Given the description of an element on the screen output the (x, y) to click on. 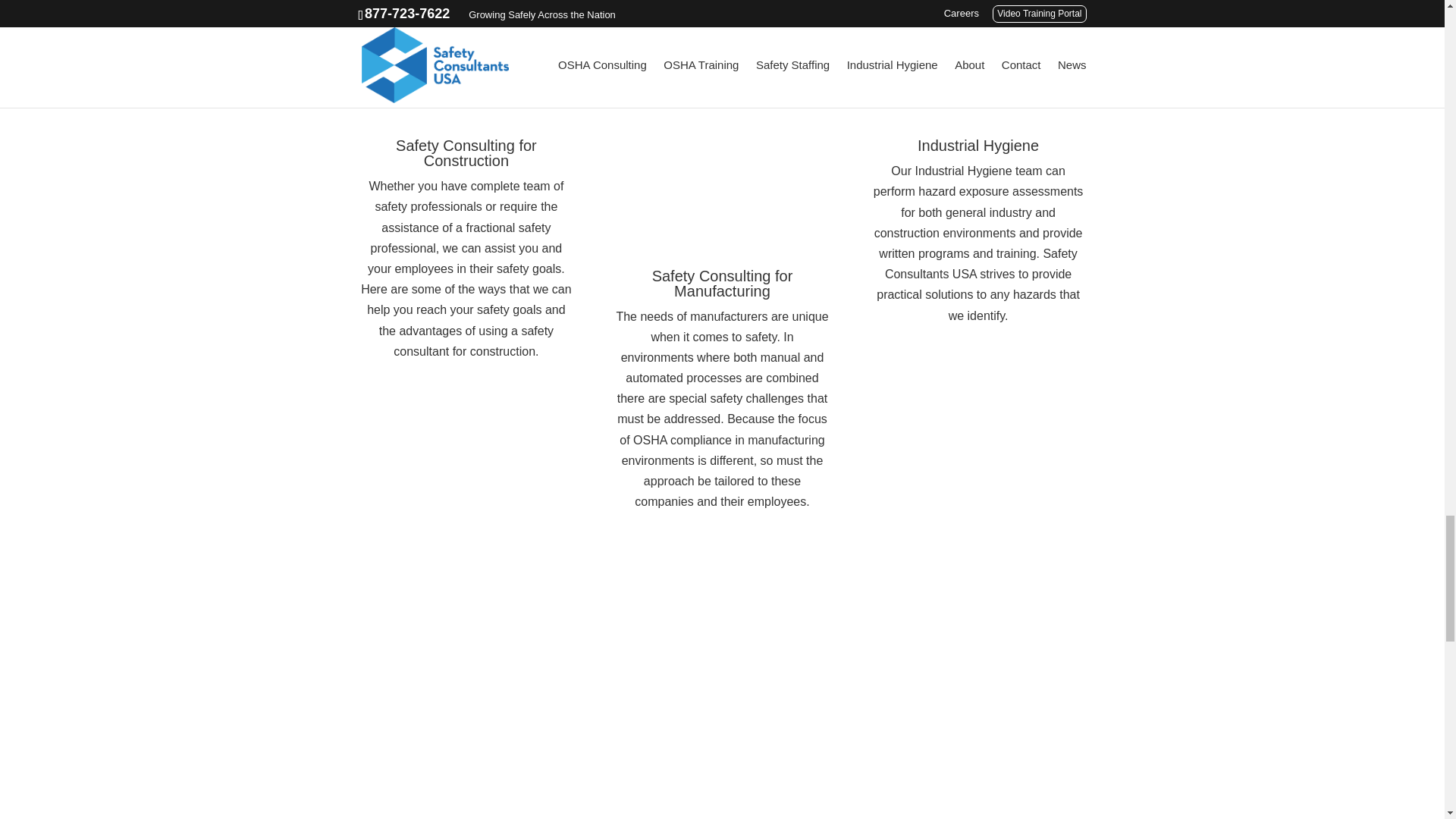
Safety Consulting for Construction (466, 152)
